Given the description of an element on the screen output the (x, y) to click on. 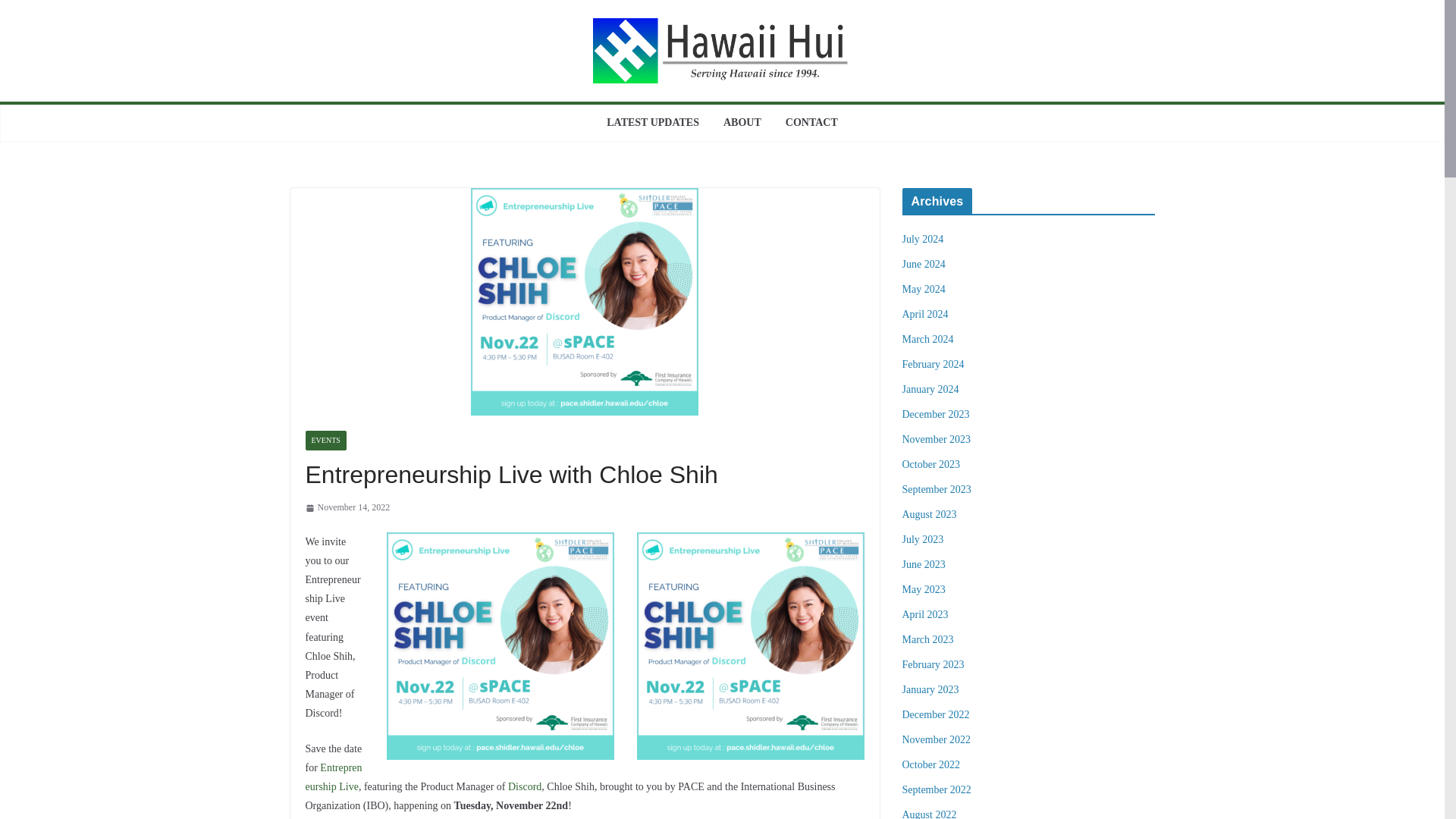
March 2023 (927, 639)
May 2023 (923, 589)
Entrepreneurship Live (332, 777)
December 2023 (935, 414)
November 2022 (936, 739)
March 2024 (927, 338)
July 2023 (922, 539)
October 2023 (931, 464)
June 2024 (923, 264)
September 2022 (936, 789)
Discord (524, 786)
9:47 am (347, 507)
CONTACT (812, 123)
August 2023 (929, 514)
LATEST UPDATES (652, 123)
